Given the description of an element on the screen output the (x, y) to click on. 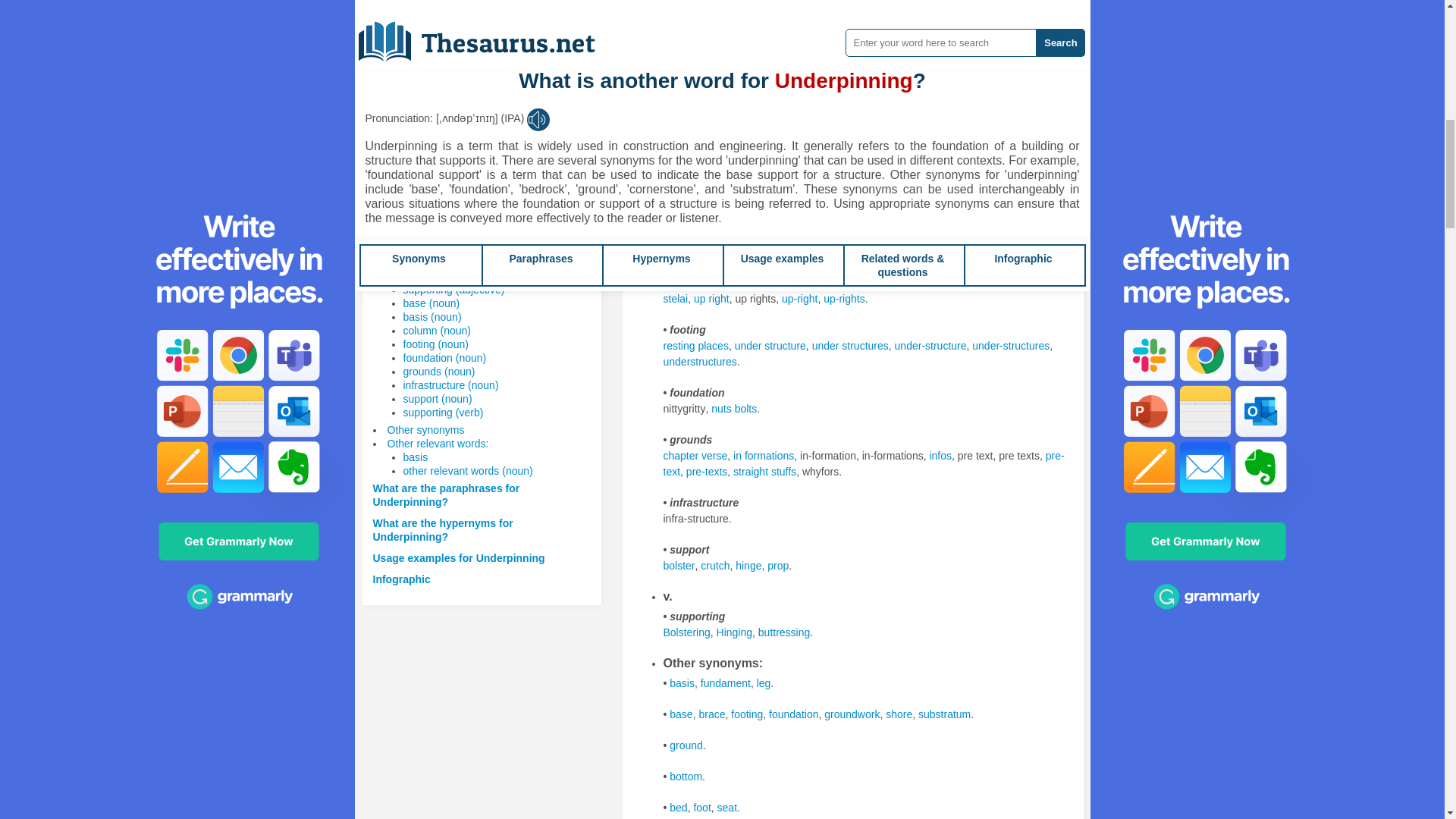
Synonyms for Underpinning (833, 110)
Synonyms for Underpinning (800, 79)
Synonyms for Underpinning (832, 28)
supporting (778, 28)
Other synonyms (425, 429)
Propping (683, 28)
Synonyms for Underpinning (739, 110)
Synonyms for Underpinning (988, 79)
Synonyms for Underpinning (1054, 79)
basis (415, 457)
core (835, 79)
Synonyms for Underpinning (694, 110)
Synonyms for Underpinning (778, 28)
Other relevant words: (437, 443)
What are the hypernyms for Underpinning? (442, 529)
